Given the description of an element on the screen output the (x, y) to click on. 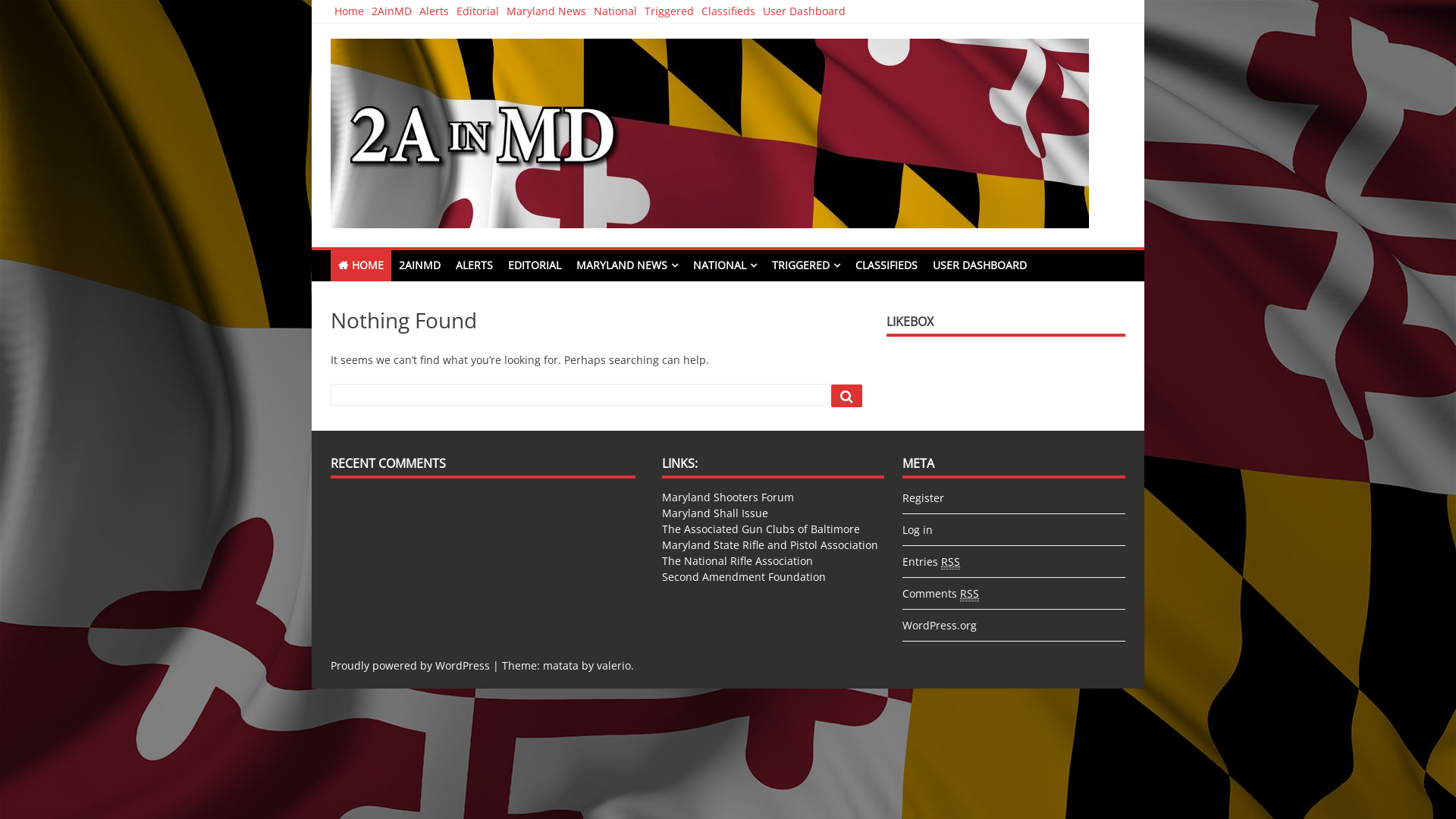
Comments RSS Element type: text (940, 593)
Proudly powered by WordPress Element type: text (409, 665)
Editorial Element type: text (477, 11)
ALERTS Element type: text (474, 265)
Maryland Shooters Forum Element type: text (727, 496)
Second Amendment Foundation Element type: text (743, 576)
Home Element type: text (348, 11)
2AinMD Element type: text (391, 11)
EDITORIAL Element type: text (534, 265)
USER DASHBOARD Element type: text (979, 265)
Classifieds Element type: text (728, 11)
WordPress.org Element type: text (939, 625)
HOME Element type: text (360, 265)
Maryland Shall Issue Element type: text (715, 512)
TRIGGERED Element type: text (805, 265)
Triggered Element type: text (668, 11)
Register Element type: text (923, 497)
Maryland State Rifle and Pistol Association Element type: text (770, 544)
2AINMD Element type: text (419, 265)
Log in Element type: text (917, 529)
Skip to content Element type: text (311, 0)
Entries RSS Element type: text (931, 561)
2A in MD Element type: text (381, 243)
The National Rifle Association Element type: text (737, 560)
Alerts Element type: text (433, 11)
The Associated Gun Clubs of Baltimore Element type: text (760, 528)
MARYLAND NEWS Element type: text (626, 265)
NATIONAL Element type: text (724, 265)
Maryland News Element type: text (545, 11)
valerio Element type: text (613, 665)
User Dashboard Element type: text (804, 11)
CLASSIFIEDS Element type: text (886, 265)
National Element type: text (614, 11)
